Given the description of an element on the screen output the (x, y) to click on. 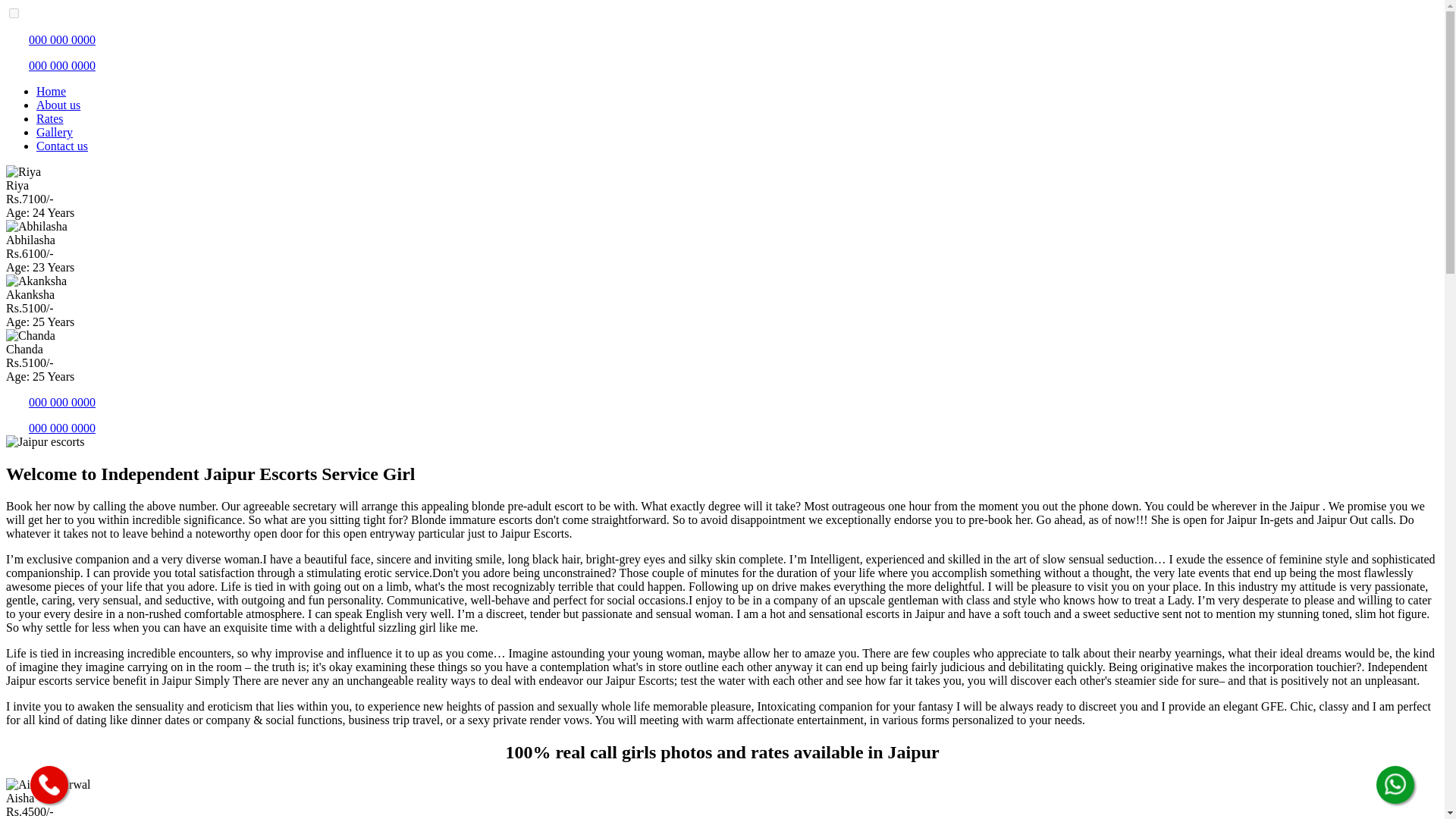
Home (50, 91)
on (13, 13)
000 000 0000 (50, 65)
Rates (50, 118)
call us (50, 401)
000 000 0000 (50, 427)
Contact (61, 145)
Home (50, 91)
Whatsapp (50, 427)
Gallery (54, 132)
About (58, 104)
Rates (50, 118)
Gallery (54, 132)
Contact us (61, 145)
000 000 0000 (50, 39)
